Given the description of an element on the screen output the (x, y) to click on. 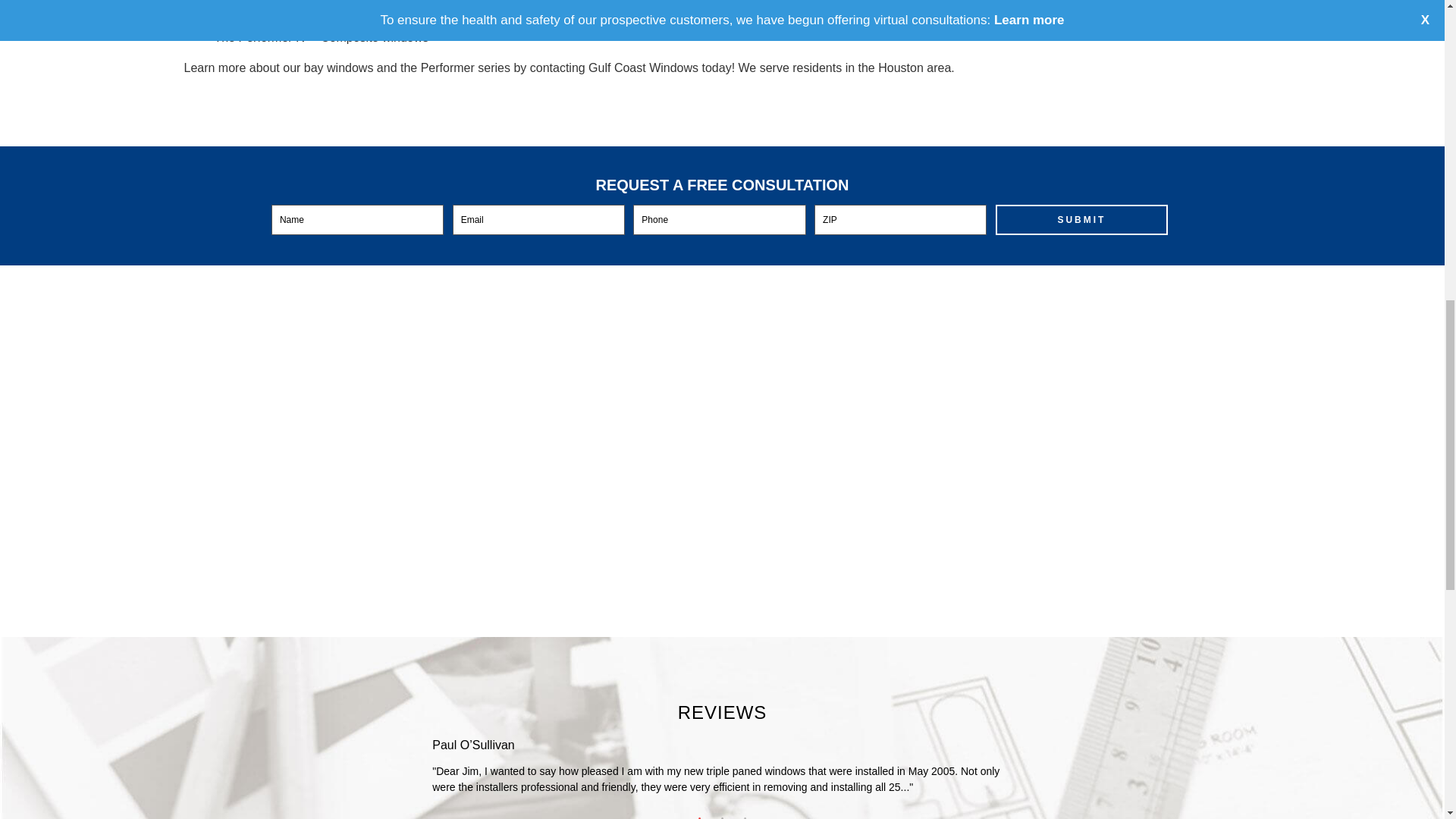
Lead-Safe Certified Firm (343, 386)
Name (357, 219)
BBB Accredited Business (912, 386)
Phone (719, 219)
Greater Houston Builders Association (721, 386)
ZIP (900, 219)
Email (538, 219)
Energy Star (532, 386)
